Given the description of an element on the screen output the (x, y) to click on. 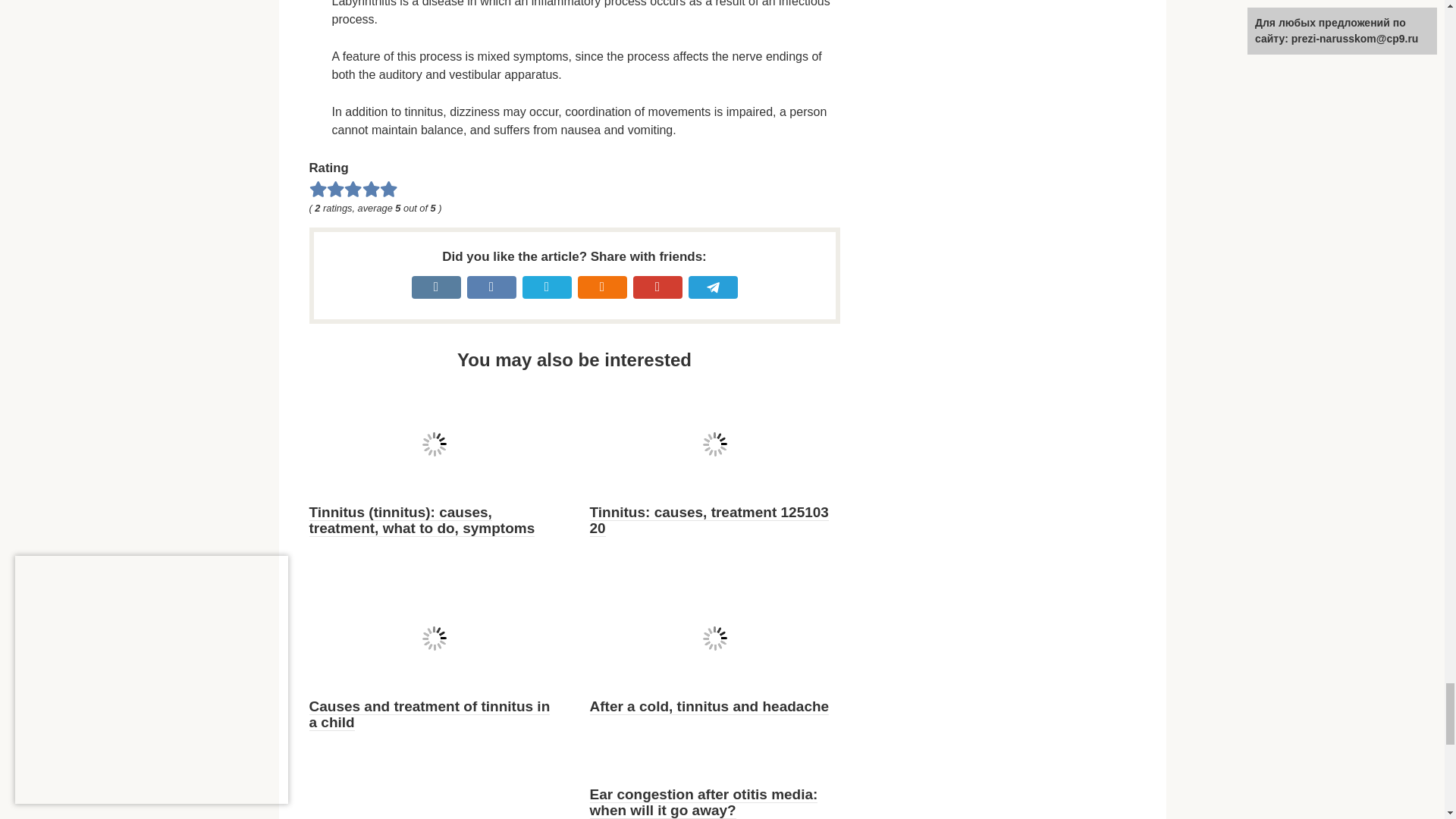
Causes and treatment of tinnitus in a child (429, 714)
After a cold, tinnitus and headache (709, 706)
Ear congestion after otitis media: when will it go away? (703, 802)
Tinnitus: causes, treatment 125103 20 (708, 520)
